Given the description of an element on the screen output the (x, y) to click on. 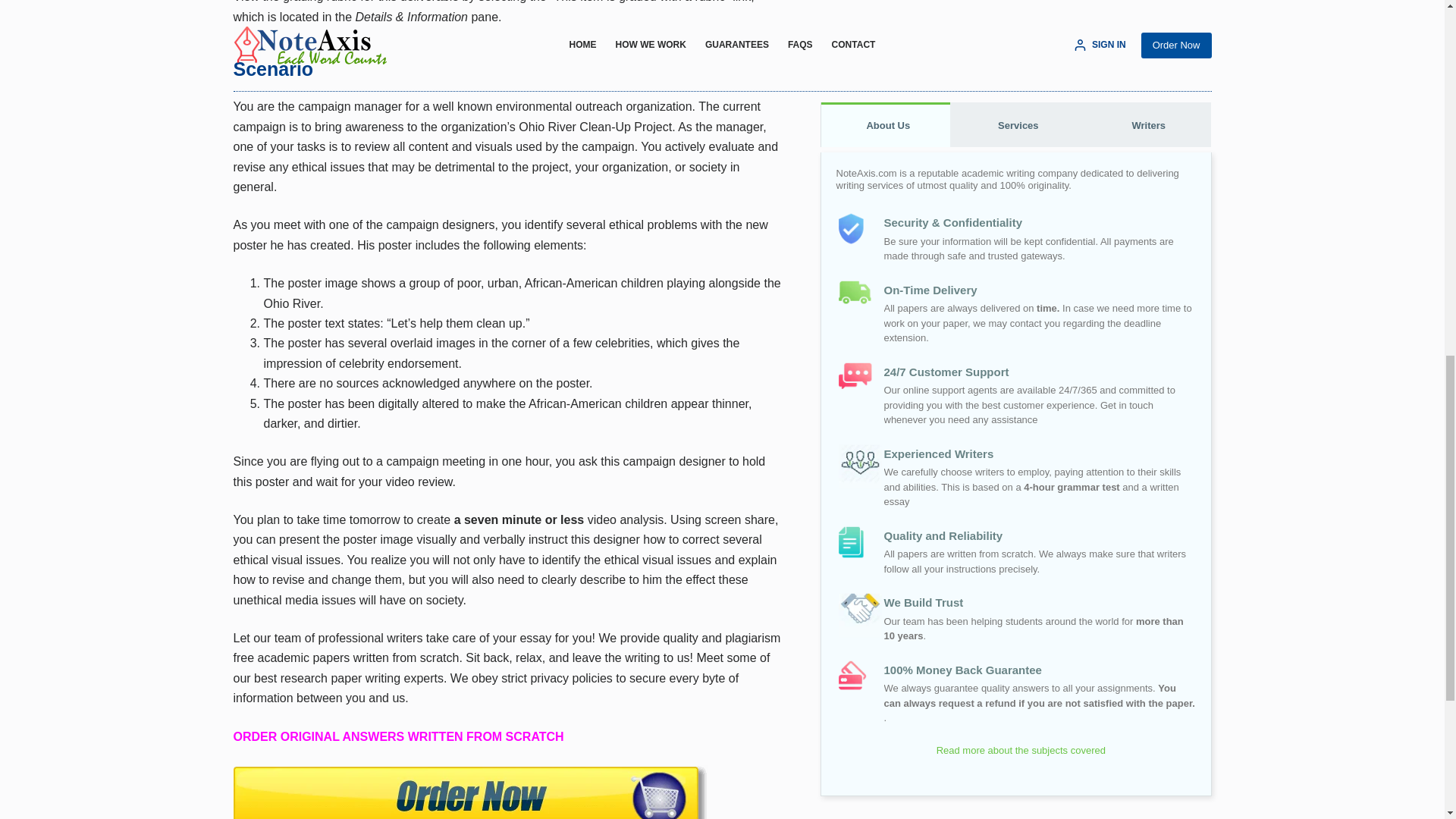
Search (1177, 266)
Read more about the subjects covered (1015, 155)
